Given the description of an element on the screen output the (x, y) to click on. 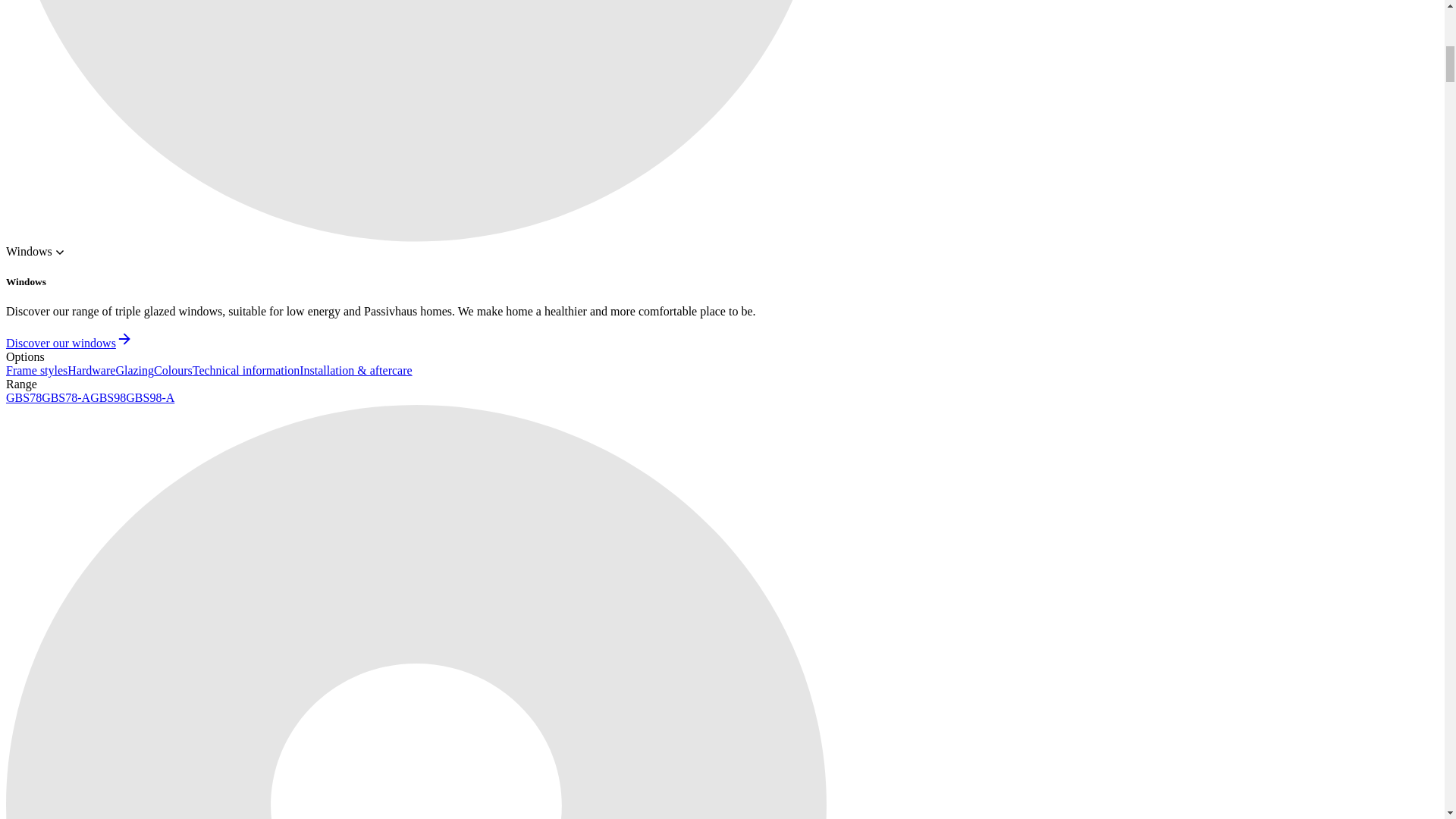
GBS98-A (149, 397)
Glazing (134, 369)
GBS98 (107, 397)
Colours (173, 369)
Discover our windows (68, 342)
Frame styles (35, 369)
GBS78-A (66, 397)
Hardware (90, 369)
Technical information (245, 369)
GBS78 (23, 397)
